Given the description of an element on the screen output the (x, y) to click on. 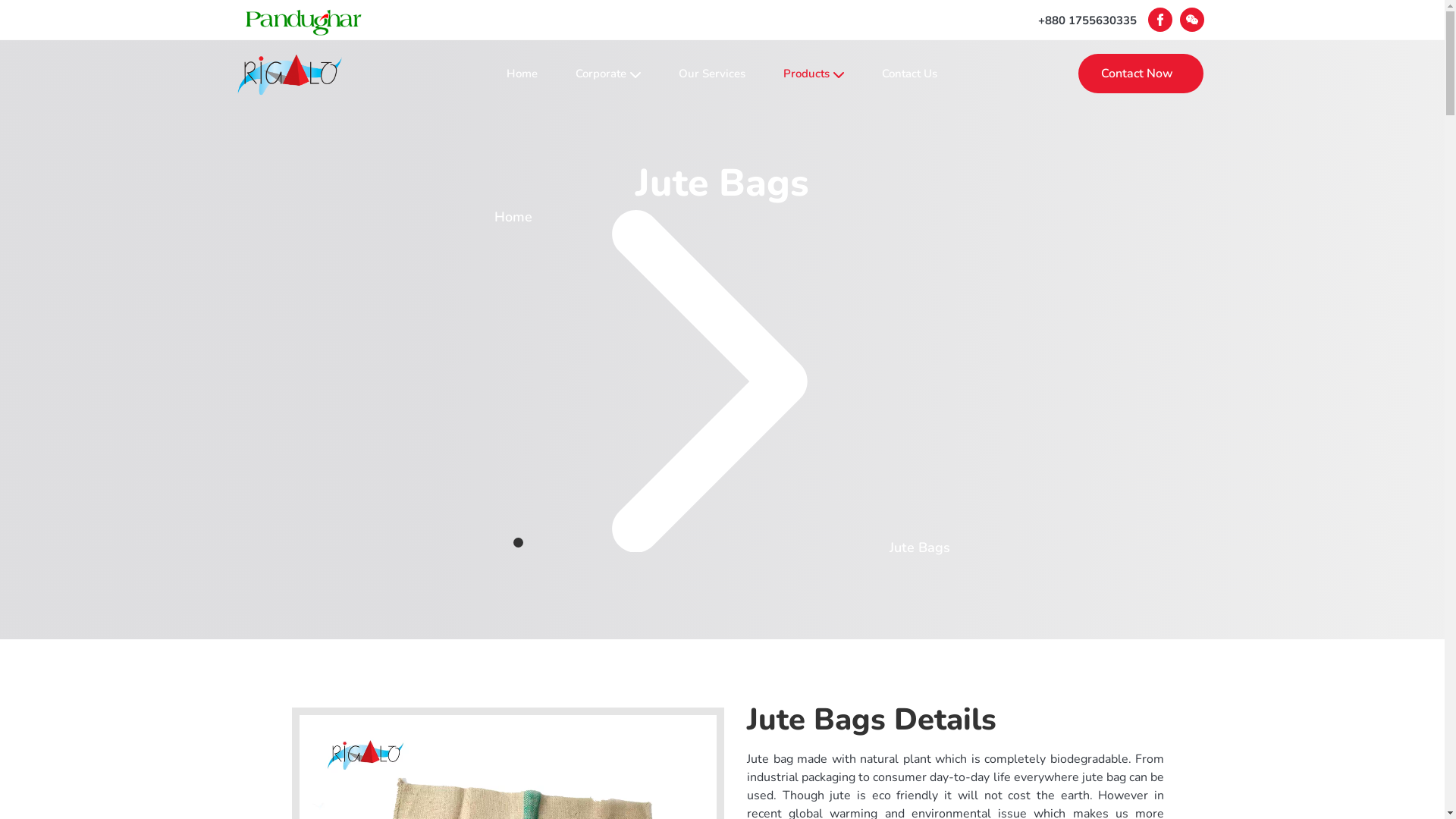
Contact Now Element type: text (1140, 72)
Products Element type: text (813, 73)
+880 1755630335 Element type: text (1086, 20)
Corporate Element type: text (607, 73)
Home Element type: text (513, 216)
Contact Us Element type: text (909, 73)
Home Element type: text (521, 73)
Our Services Element type: text (711, 73)
